Given the description of an element on the screen output the (x, y) to click on. 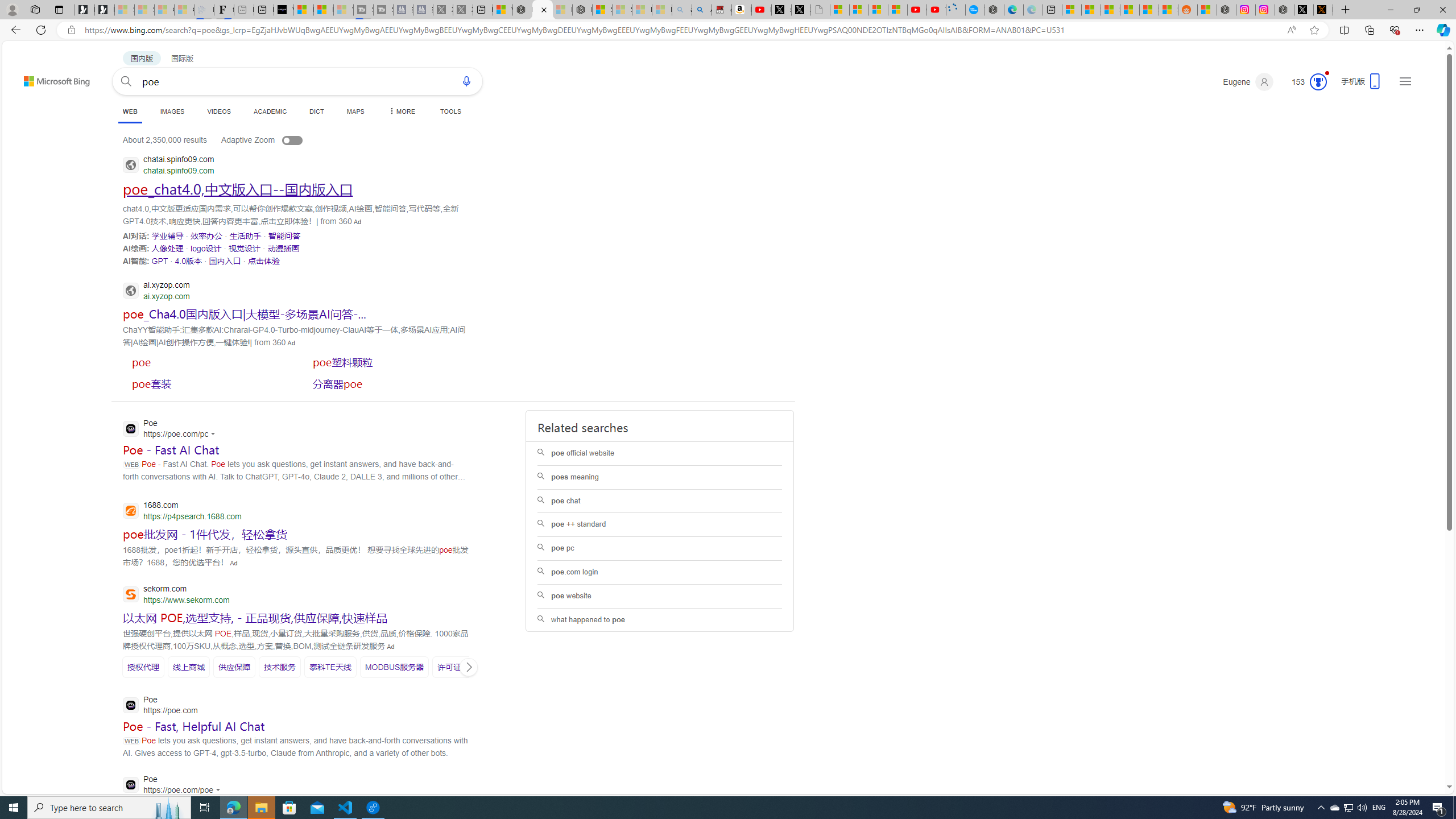
Class: medal-svg-animation (1317, 81)
Close tab (543, 9)
what happened to poe (659, 619)
Eugene (1248, 81)
Wildlife - MSN (501, 9)
SERP,5600 (394, 666)
SERP,5598 (279, 667)
Global web icon (130, 784)
Newsletter Sign Up (104, 9)
IMAGES (172, 111)
